Given the description of an element on the screen output the (x, y) to click on. 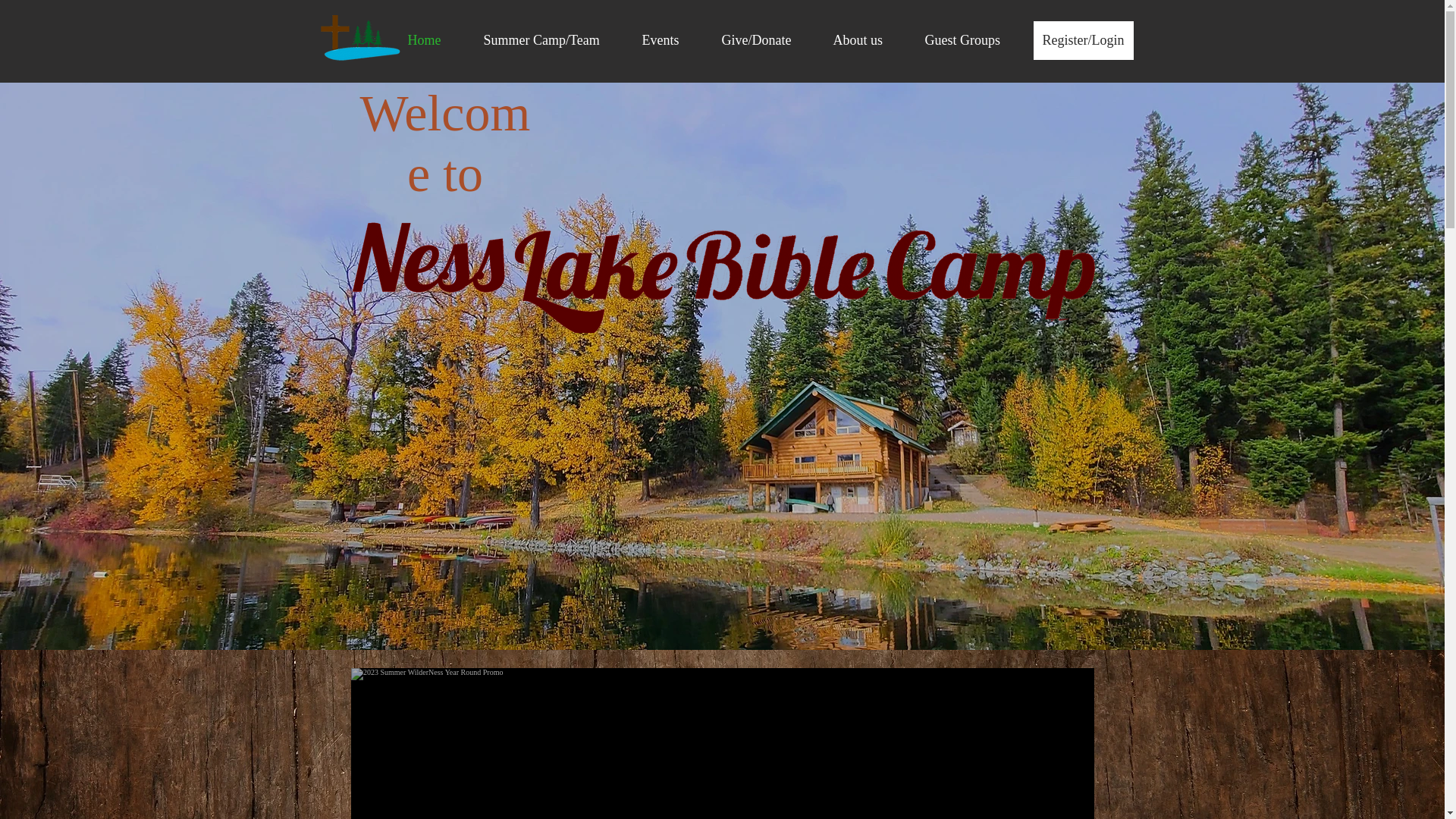
Events Element type: text (670, 40)
Give/Donate Element type: text (765, 40)
Summer Camp/Team Element type: text (550, 40)
Guest Groups Element type: text (971, 40)
Register/Login Element type: text (1082, 40)
About us Element type: text (867, 40)
Home Element type: text (433, 40)
